Given the description of an element on the screen output the (x, y) to click on. 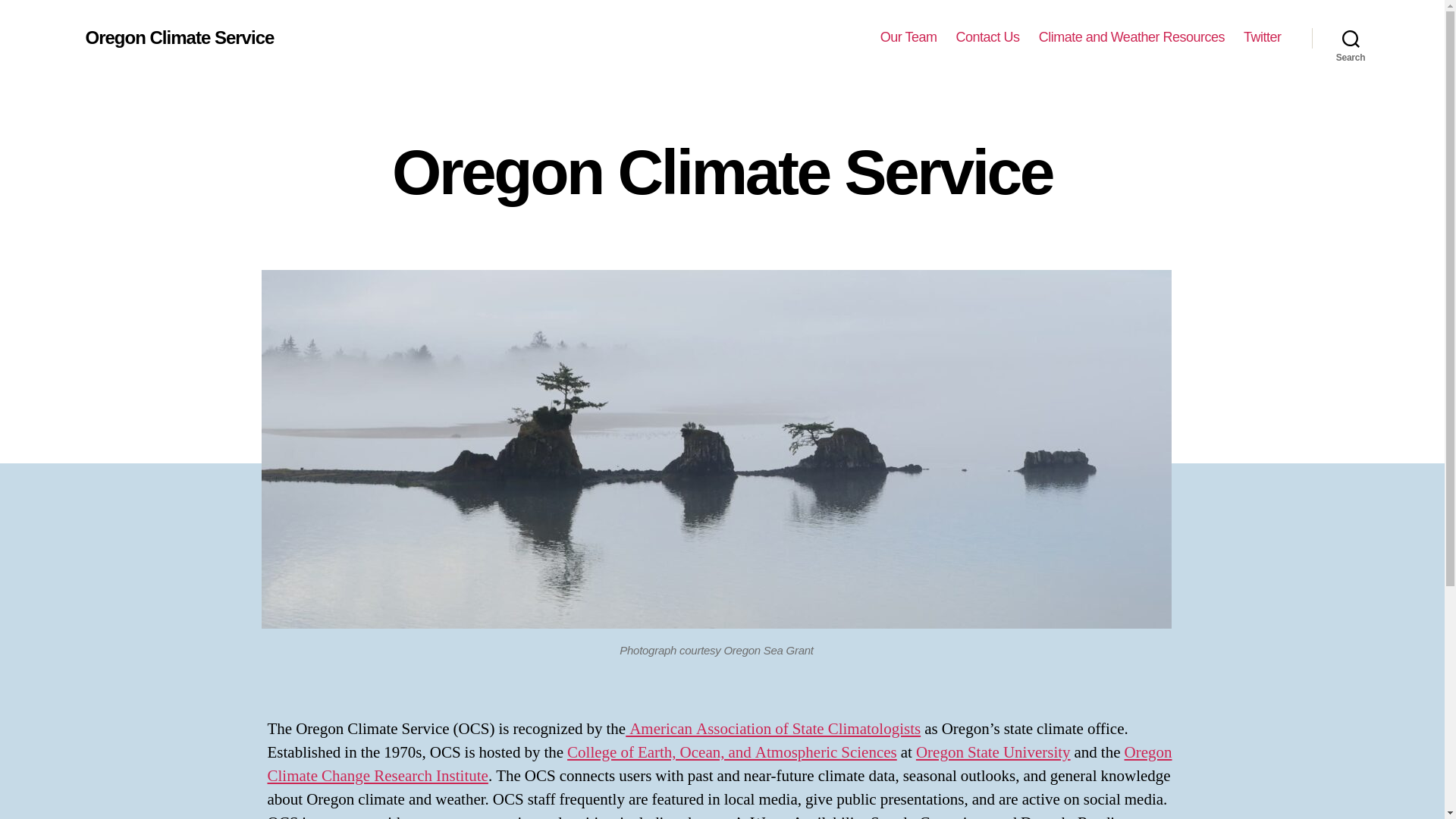
Oregon Climate Service (178, 37)
Our Team (908, 37)
College of Earth, Ocean, and Atmospheric Sciences (731, 752)
Twitter (1262, 37)
Oregon State University (992, 752)
Search (1350, 37)
American Association of State Climatologists (773, 729)
Oregon Climate Change Research Institute (719, 764)
Contact Us (988, 37)
Climate and Weather Resources (1131, 37)
